Given the description of an element on the screen output the (x, y) to click on. 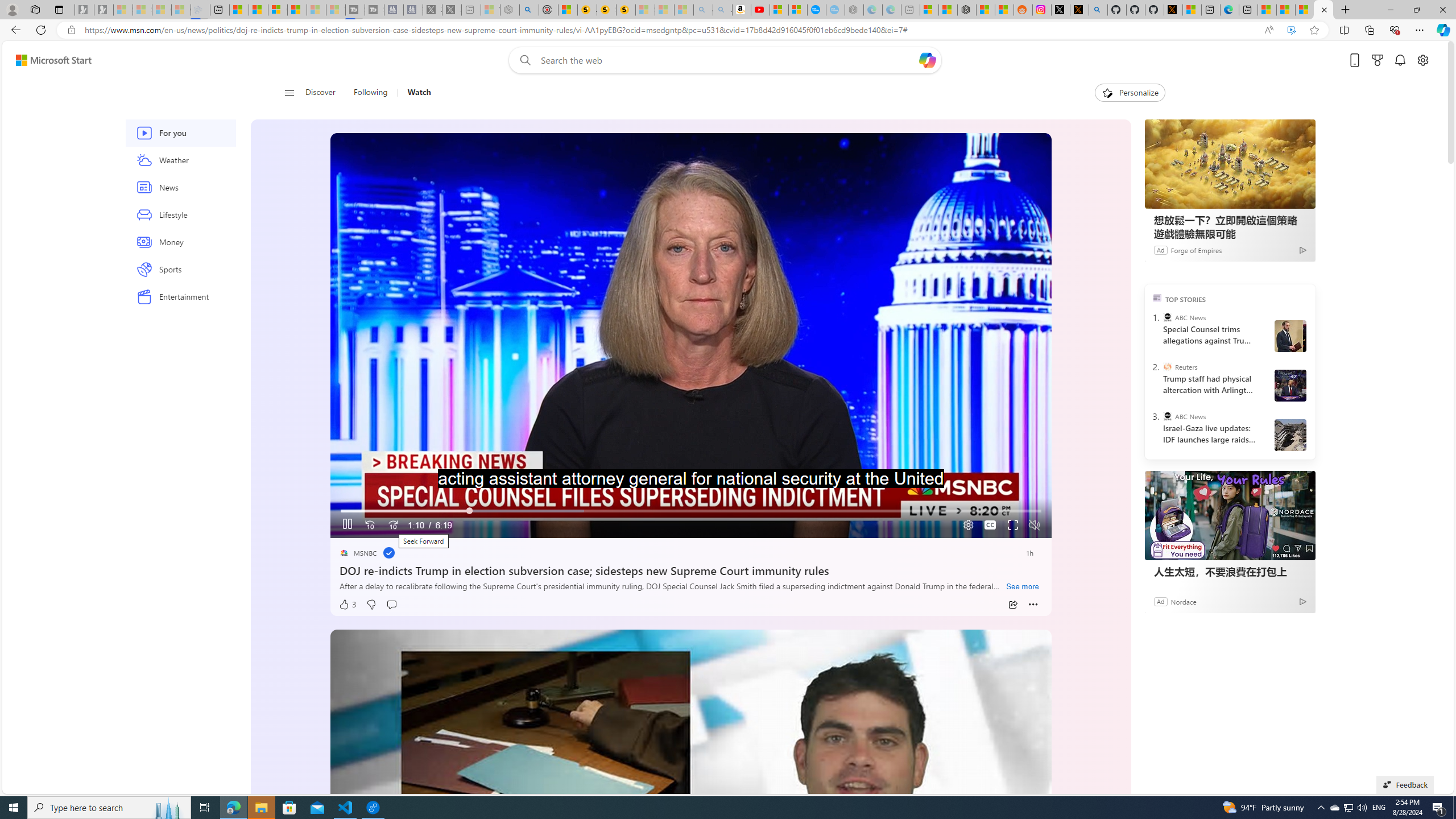
Seek Forward (392, 525)
